Given the description of an element on the screen output the (x, y) to click on. 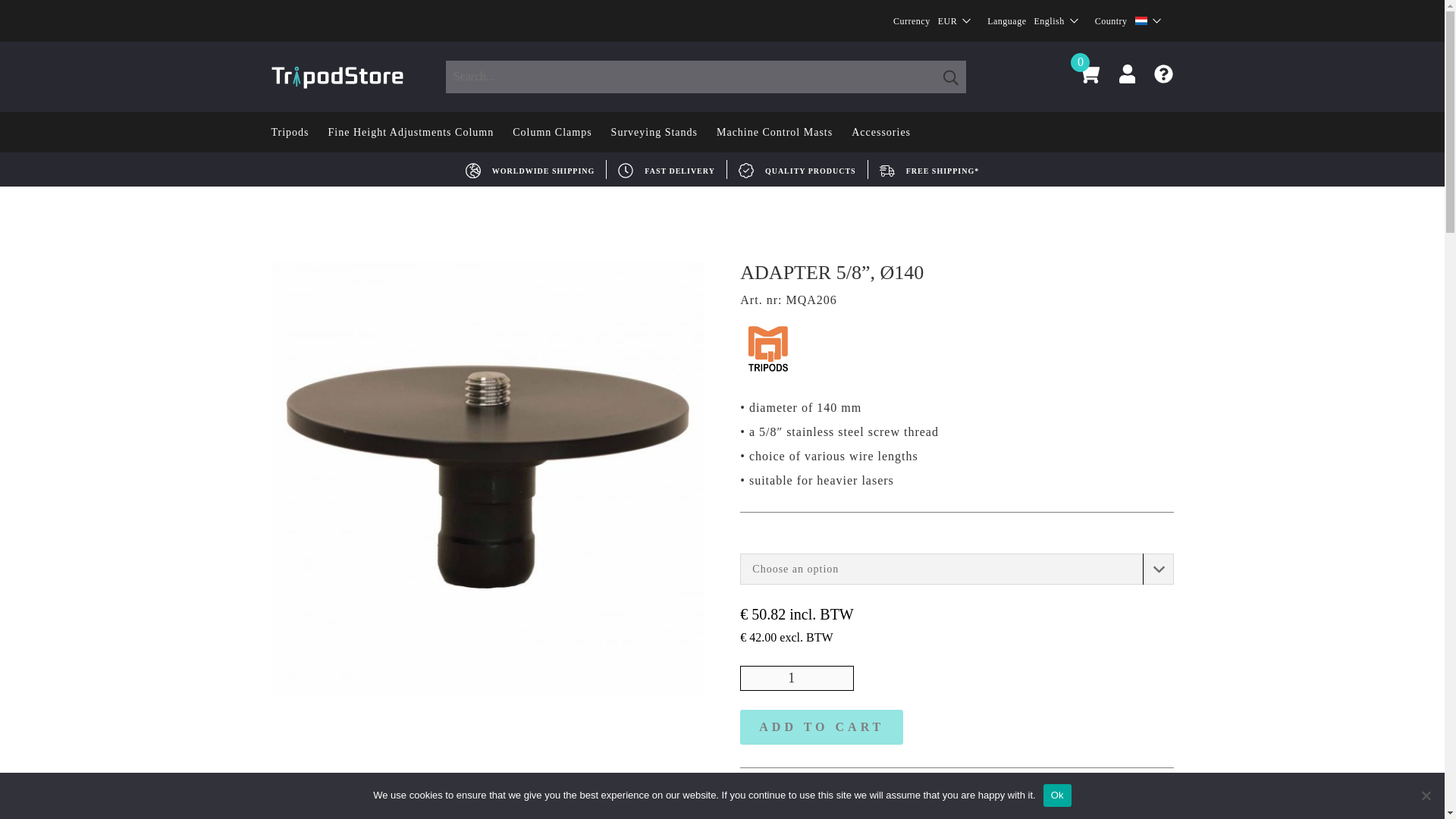
Qty (796, 678)
Surveying Stands (654, 132)
Machine Control Masts (774, 132)
Column Clamps (551, 132)
Tripods (289, 132)
1 (796, 678)
Fine Height Adjustments Column (412, 132)
